Given the description of an element on the screen output the (x, y) to click on. 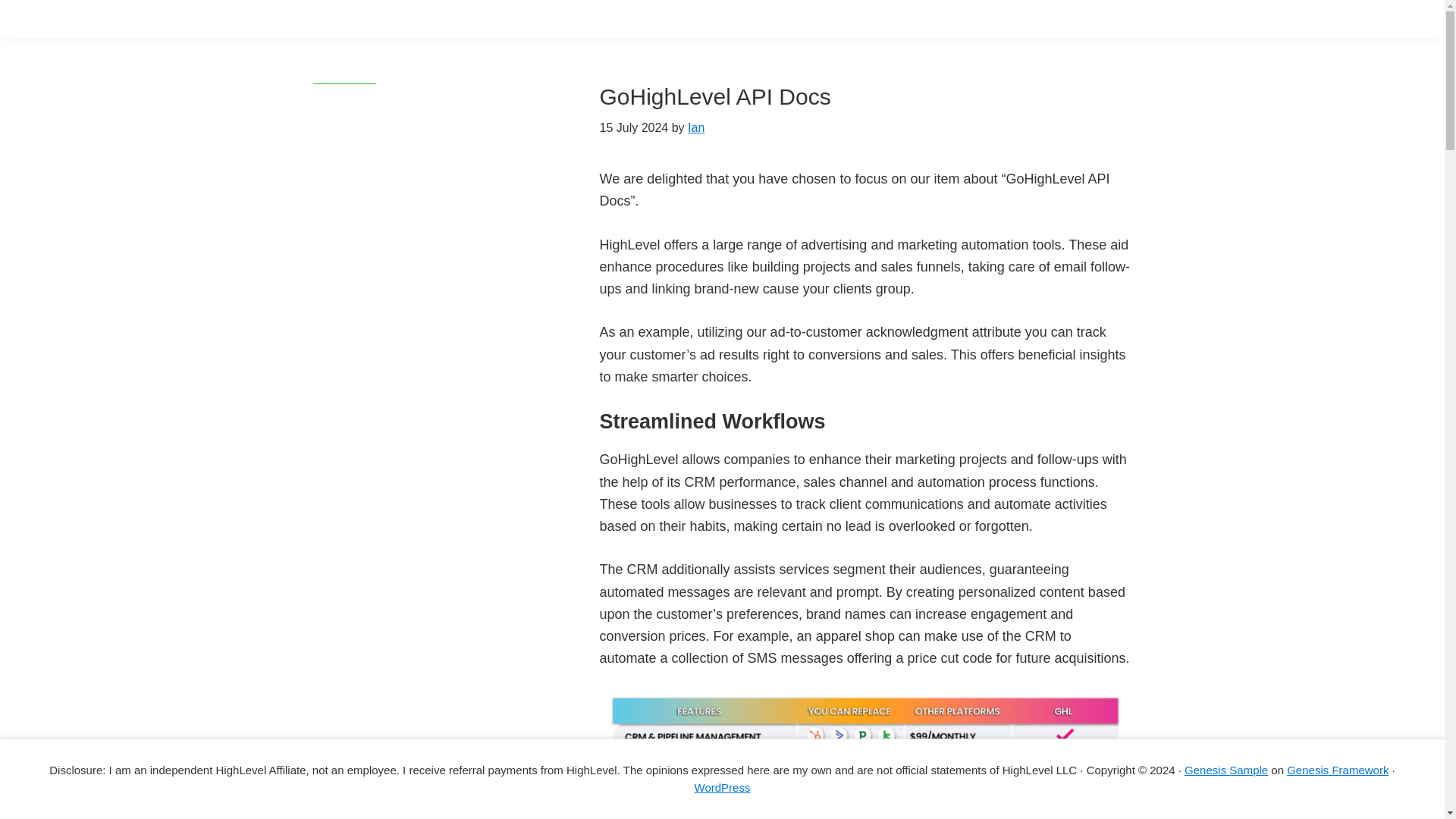
Ian (695, 127)
WordPress (722, 787)
Genesis Framework (1338, 769)
Genesis Sample (1226, 769)
